Given the description of an element on the screen output the (x, y) to click on. 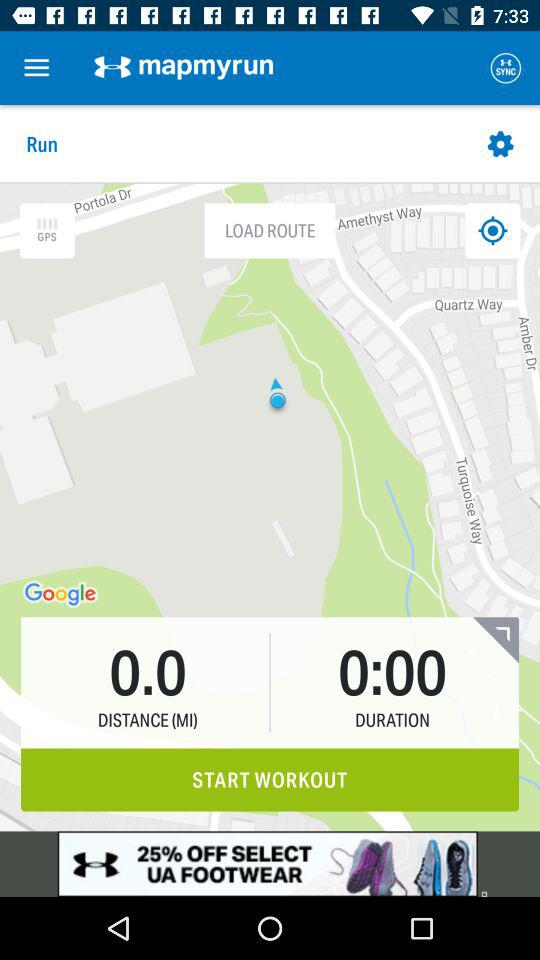
zoom in location (47, 230)
